Given the description of an element on the screen output the (x, y) to click on. 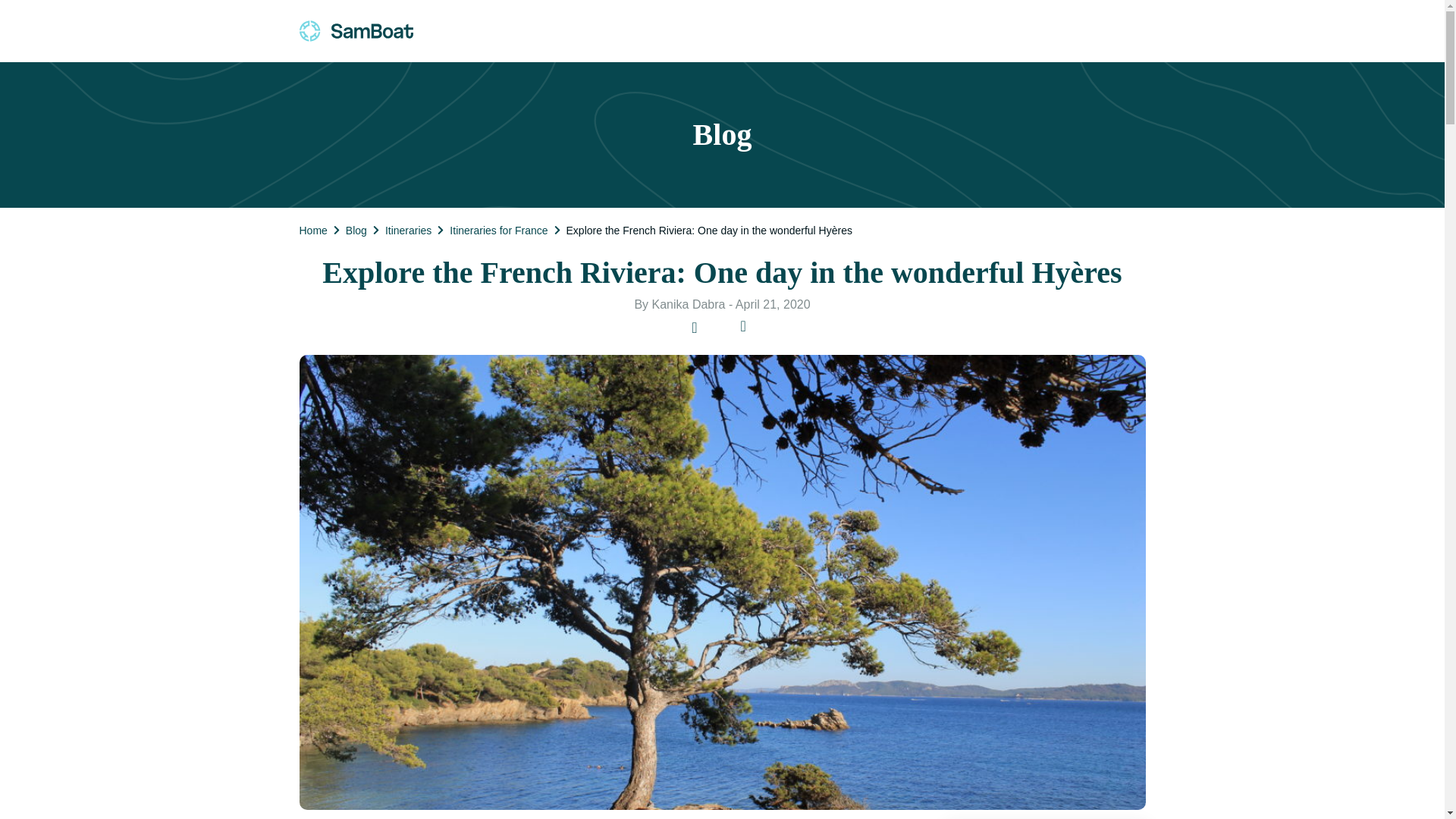
Itineraries (407, 229)
boat rental (355, 30)
Itineraries (407, 229)
Blog (356, 229)
Kanika Dabra (688, 304)
Itineraries for France (498, 229)
Home (312, 229)
Blog (356, 229)
Itineraries for France (498, 229)
Home (312, 229)
